Given the description of an element on the screen output the (x, y) to click on. 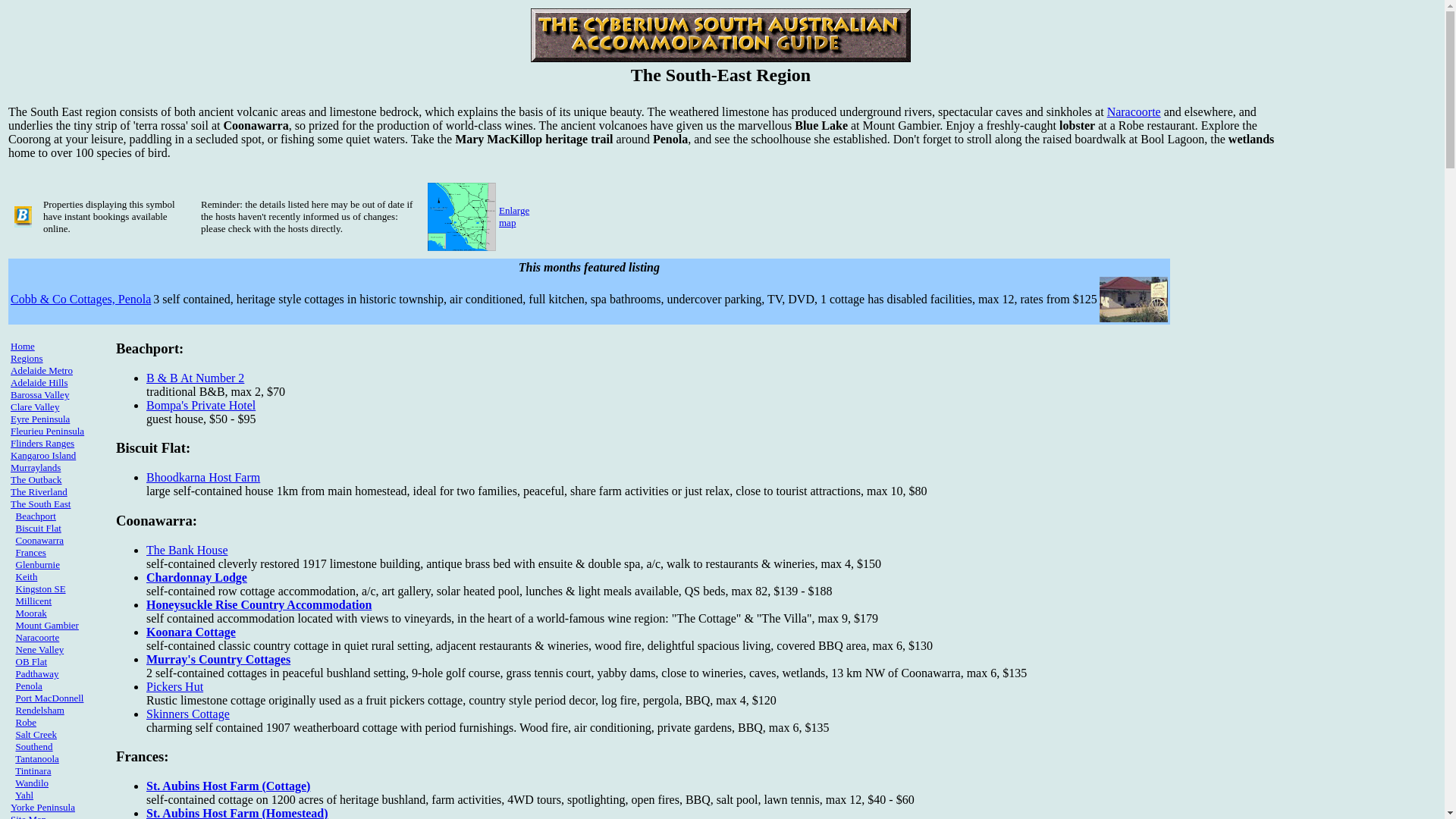
Beachport Element type: text (35, 515)
Chardonnay Lodge Element type: text (196, 576)
Kangaroo Island Element type: text (42, 455)
The Outback Element type: text (36, 479)
Clare Valley Element type: text (34, 406)
Millicent Element type: text (33, 600)
Southend Element type: text (33, 746)
Skinners Cottage Element type: text (187, 712)
Tantanoola Element type: text (37, 758)
The Bank House Element type: text (187, 548)
Honeysuckle Rise Country Accommodation Element type: text (258, 603)
Fleurieu Peninsula Element type: text (47, 430)
Nene Valley Element type: text (39, 649)
Kingston SE Element type: text (40, 588)
Barossa Valley Element type: text (39, 394)
Mount Gambier Element type: text (46, 624)
St. Aubins Host Farm (Cottage) Element type: text (228, 785)
Bompa's Private Hotel Element type: text (200, 404)
Advertisement Element type: hover (1357, 179)
Eyre Peninsula Element type: text (39, 418)
Wandilo Element type: text (31, 782)
Tintinara Element type: text (32, 770)
Murray's Country Cottages Element type: text (218, 658)
Adelaide Hills Element type: text (38, 382)
Frances Element type: text (30, 552)
The Riverland Element type: text (38, 491)
Coonawarra Element type: text (39, 540)
Salt Creek Element type: text (35, 734)
Padthaway Element type: text (36, 673)
The South East Element type: text (40, 503)
Regions Element type: text (26, 358)
Yahl Element type: text (24, 794)
Home Element type: text (22, 345)
Glenburnie Element type: text (37, 564)
Koonara Cottage Element type: text (190, 630)
Adelaide Metro Element type: text (41, 370)
B & B At Number 2 Element type: text (195, 377)
Murraylands Element type: text (35, 467)
OB Flat Element type: text (31, 661)
Rendelsham Element type: text (39, 709)
Robe Element type: text (25, 722)
Flinders Ranges Element type: text (42, 442)
Enlarge
map Element type: text (513, 216)
Keith Element type: text (26, 576)
Bhoodkarna Host Farm Element type: text (203, 476)
Cobb & Co Cottages, Penola Element type: text (80, 298)
Pickers Hut Element type: text (174, 685)
Biscuit Flat Element type: text (37, 527)
Naracoorte Element type: text (1134, 111)
Moorak Element type: text (30, 612)
Port MacDonnell Element type: text (49, 697)
Penola Element type: text (28, 685)
Naracoorte Element type: text (37, 637)
Yorke Peninsula Element type: text (42, 806)
